Given the description of an element on the screen output the (x, y) to click on. 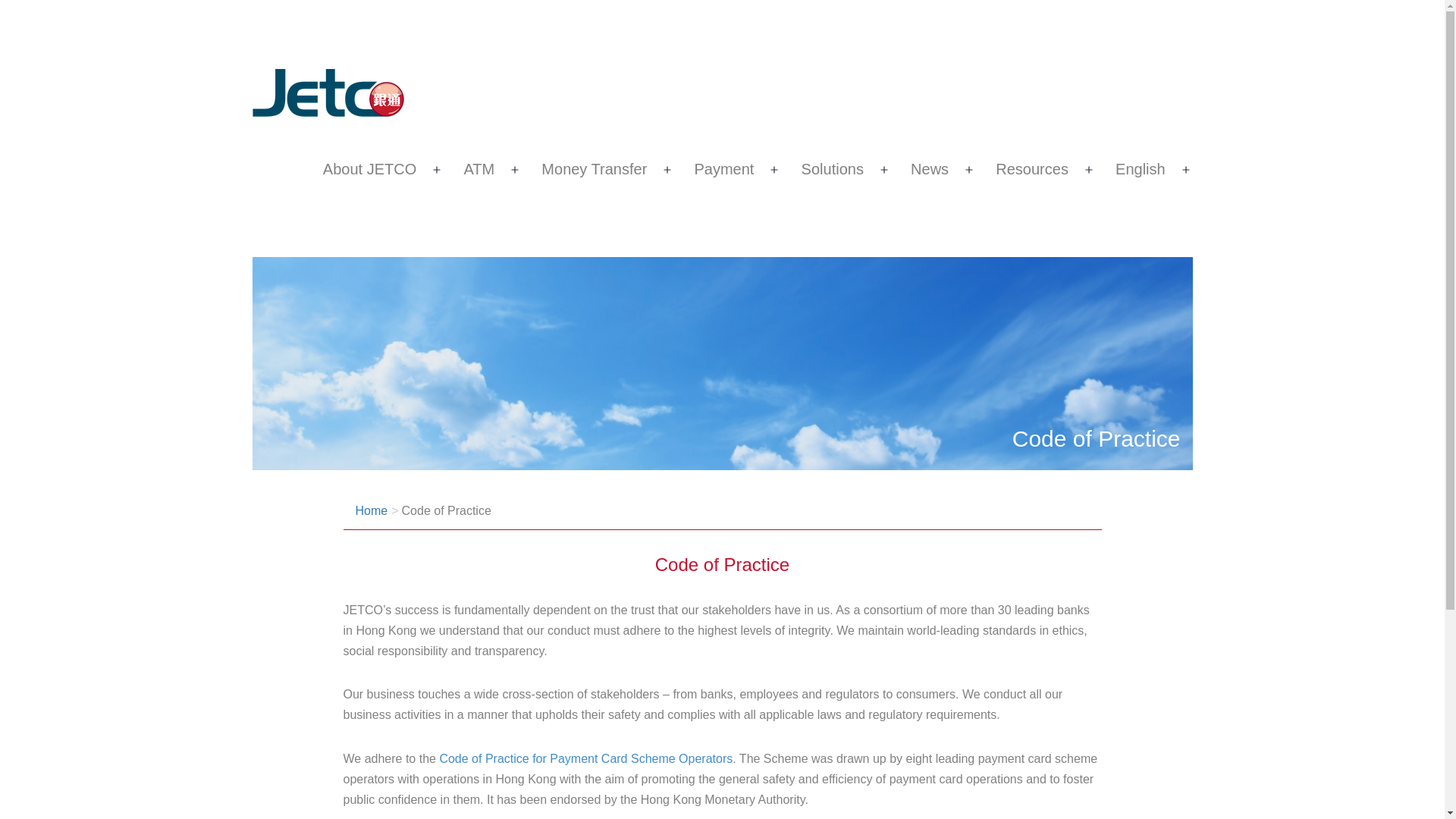
About JETCO (369, 169)
ATM (477, 169)
Money Transfer (593, 169)
Resources (1031, 169)
Payment (723, 169)
News (929, 169)
Code of Practice (446, 510)
Solutions (831, 169)
English (1139, 169)
